Given the description of an element on the screen output the (x, y) to click on. 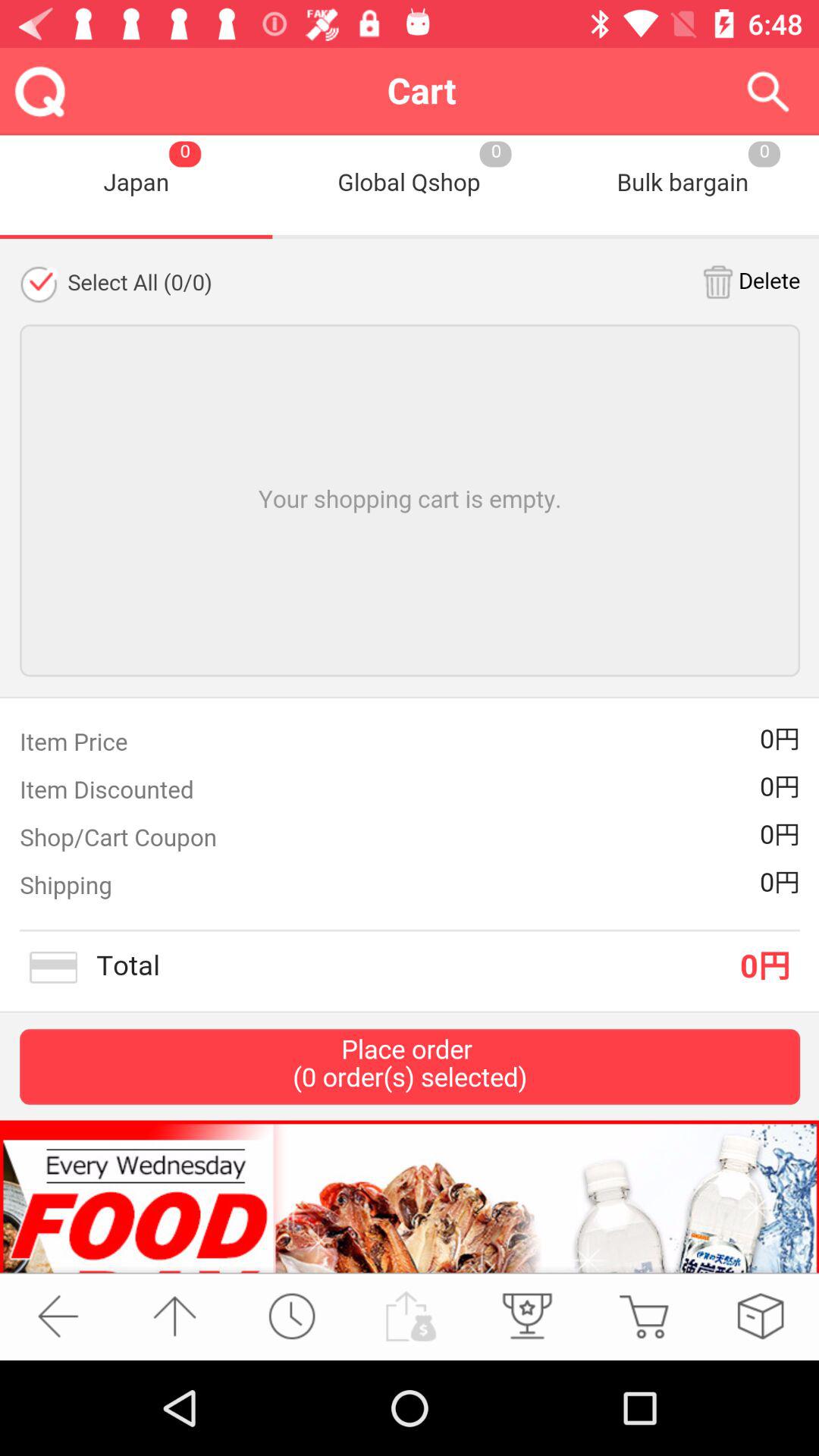
search (767, 91)
